Given the description of an element on the screen output the (x, y) to click on. 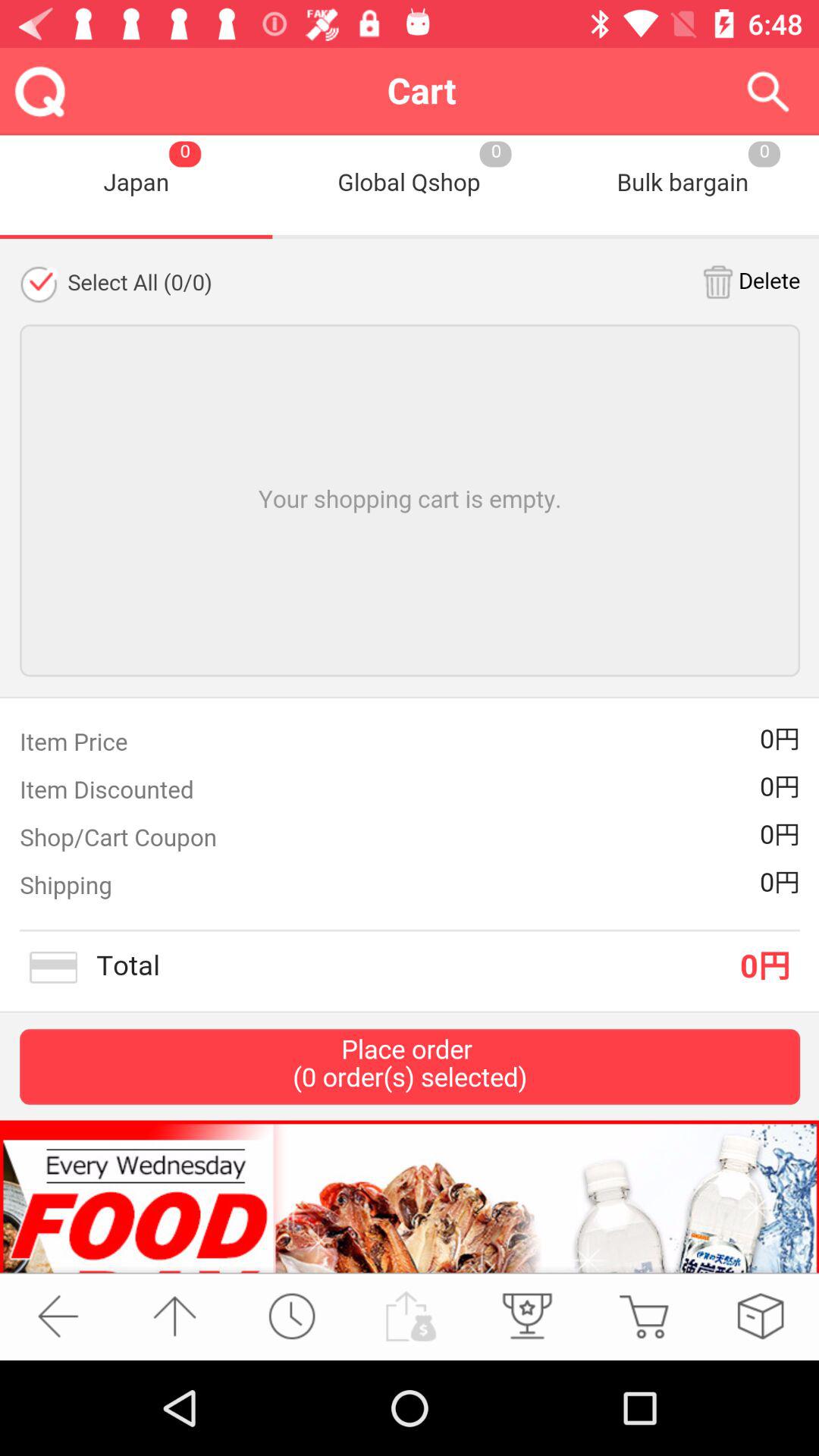
search (767, 91)
